Given the description of an element on the screen output the (x, y) to click on. 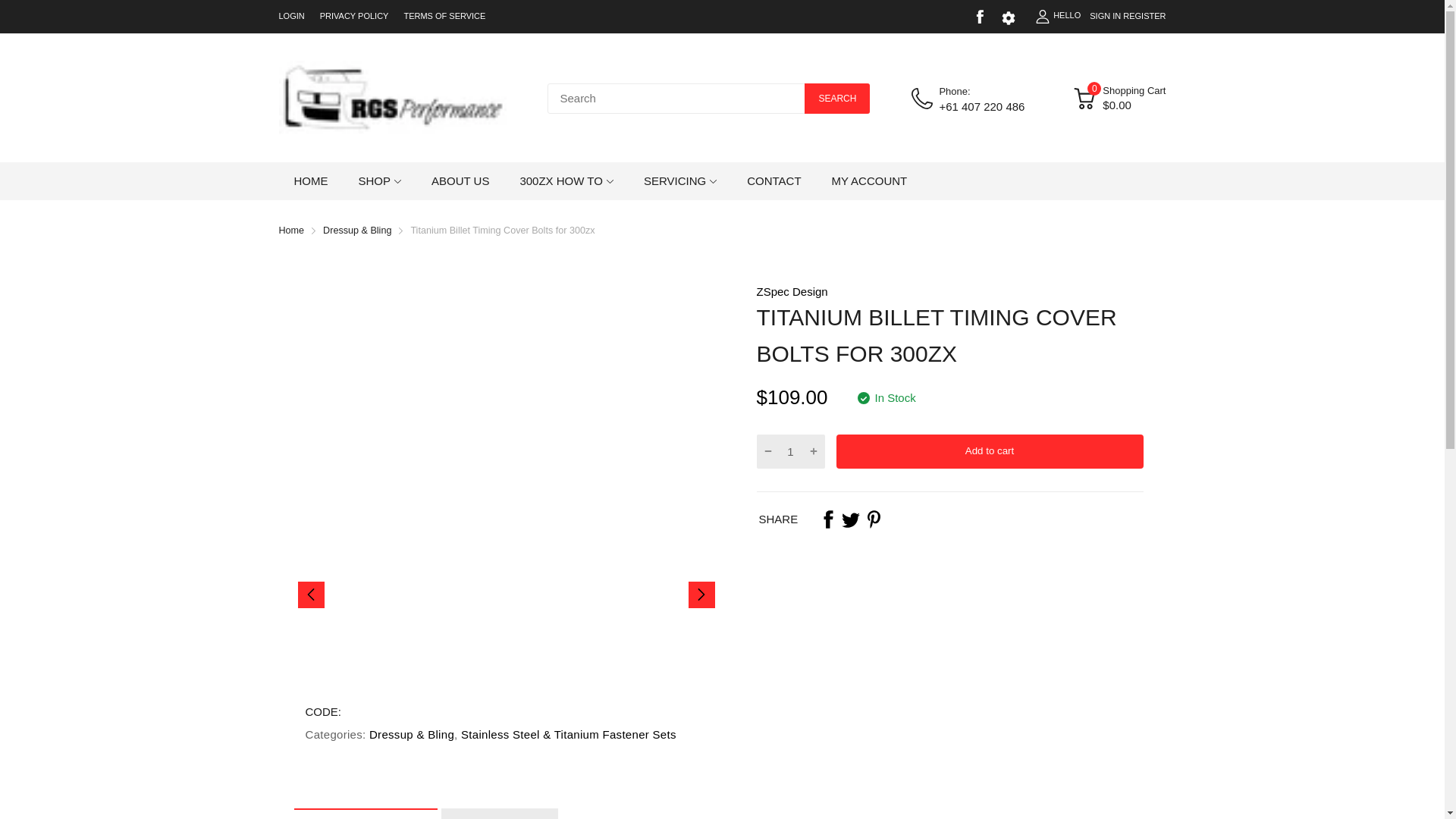
Pinterest (873, 519)
1 (790, 450)
SHOP (374, 180)
ZSpec Design (792, 291)
HELLO (1057, 16)
LOGIN (291, 15)
MY ACCOUNT (869, 180)
Facebook (979, 16)
Add to cart (988, 451)
Home (291, 230)
Titanium Billet Timing Cover Bolts for 300zx (502, 230)
Facebook (827, 519)
300ZX HOW TO (560, 180)
ABOUT US (459, 180)
SERVICING (674, 180)
